Given the description of an element on the screen output the (x, y) to click on. 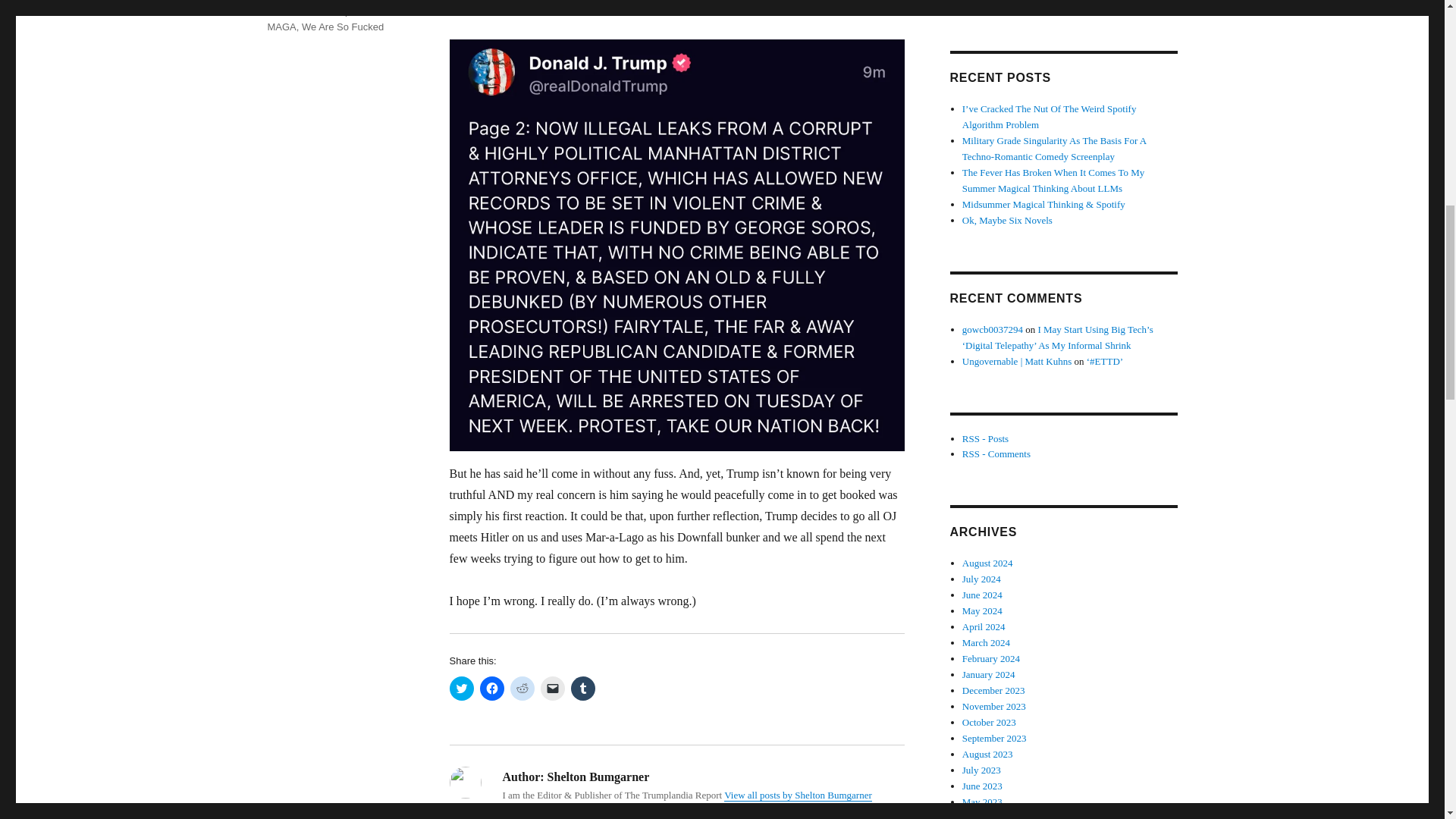
Click to email a link to a friend (552, 688)
Click to share on Reddit (521, 688)
View all posts by Shelton Bumgarner (797, 794)
Subscribe to posts (985, 437)
Fuck You MAGA (331, 18)
Click to share on Facebook (491, 688)
Click to share on Twitter (460, 688)
Fuck MAGA Fuck Trump (327, 8)
Ok, Maybe Six Novels (1007, 220)
